Given the description of an element on the screen output the (x, y) to click on. 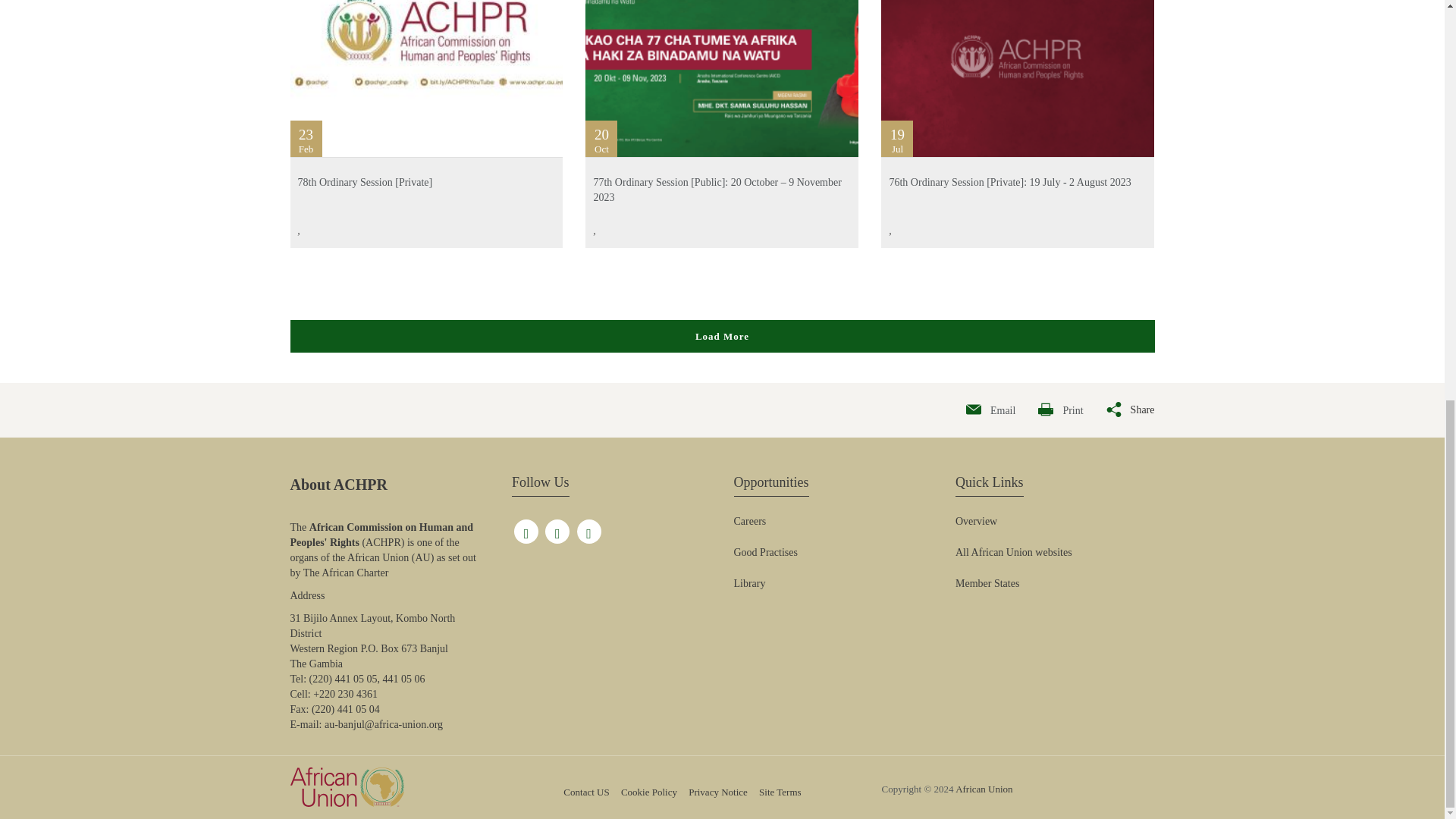
Member States (987, 583)
All African Union websites (1013, 552)
Load More (721, 335)
Go to next page (721, 336)
